Given the description of an element on the screen output the (x, y) to click on. 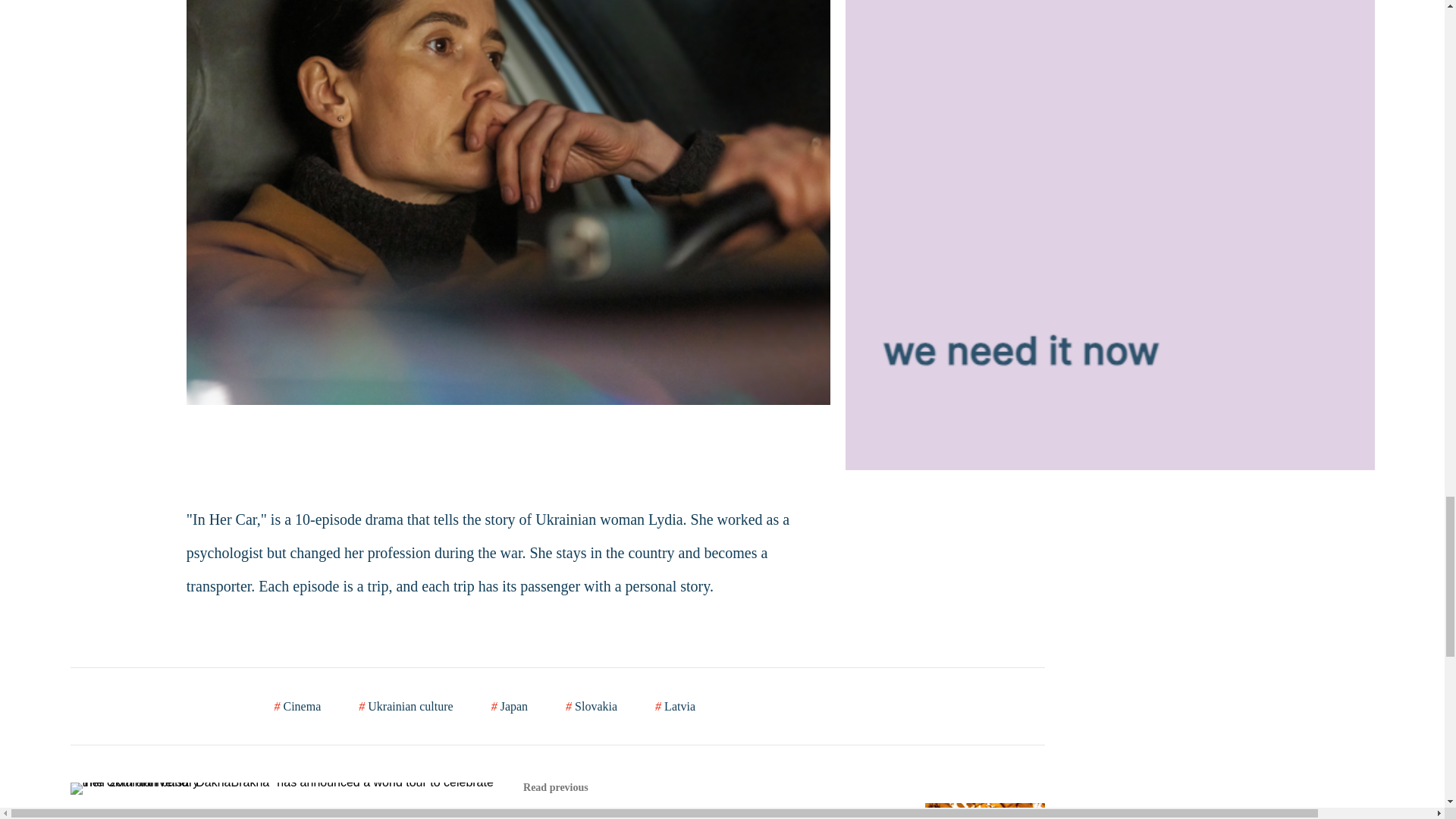
Latvia (675, 705)
Ukrainian culture (405, 705)
Slovakia (591, 705)
Japan (509, 705)
Cinema (298, 705)
